Given the description of an element on the screen output the (x, y) to click on. 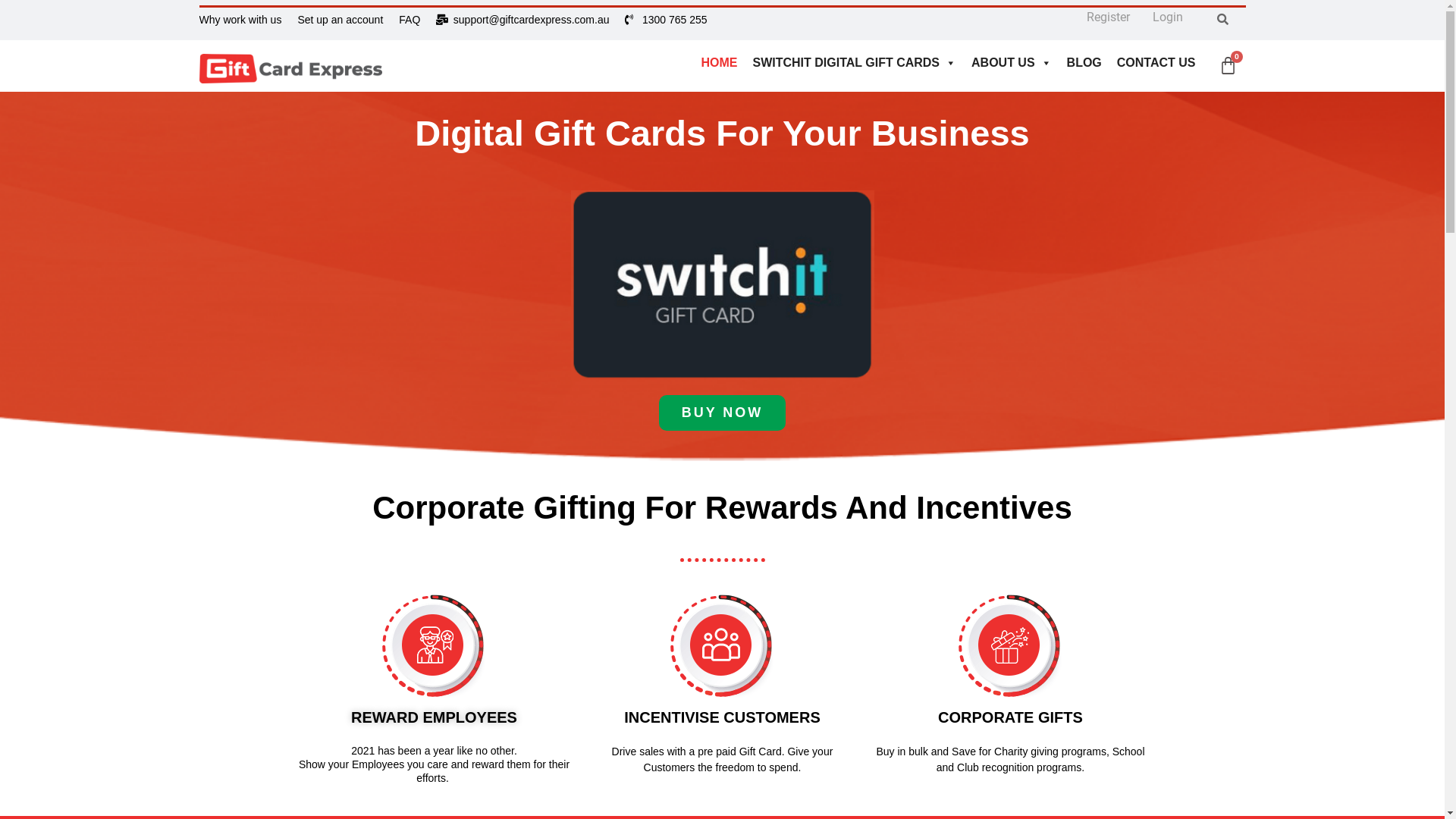
CONTACT US Element type: text (1156, 62)
BUY NOW Element type: text (722, 412)
SWITCHIT DIGITAL GIFT CARDS Element type: text (854, 62)
HOME Element type: text (719, 62)
BLOG Element type: text (1084, 62)
Why work with us Element type: text (239, 19)
FAQ Element type: text (409, 19)
Search Element type: hover (1218, 23)
ABOUT US Element type: text (1011, 62)
support@giftcardexpress.com.au Element type: text (522, 19)
Set up an account Element type: text (339, 19)
